Given the description of an element on the screen output the (x, y) to click on. 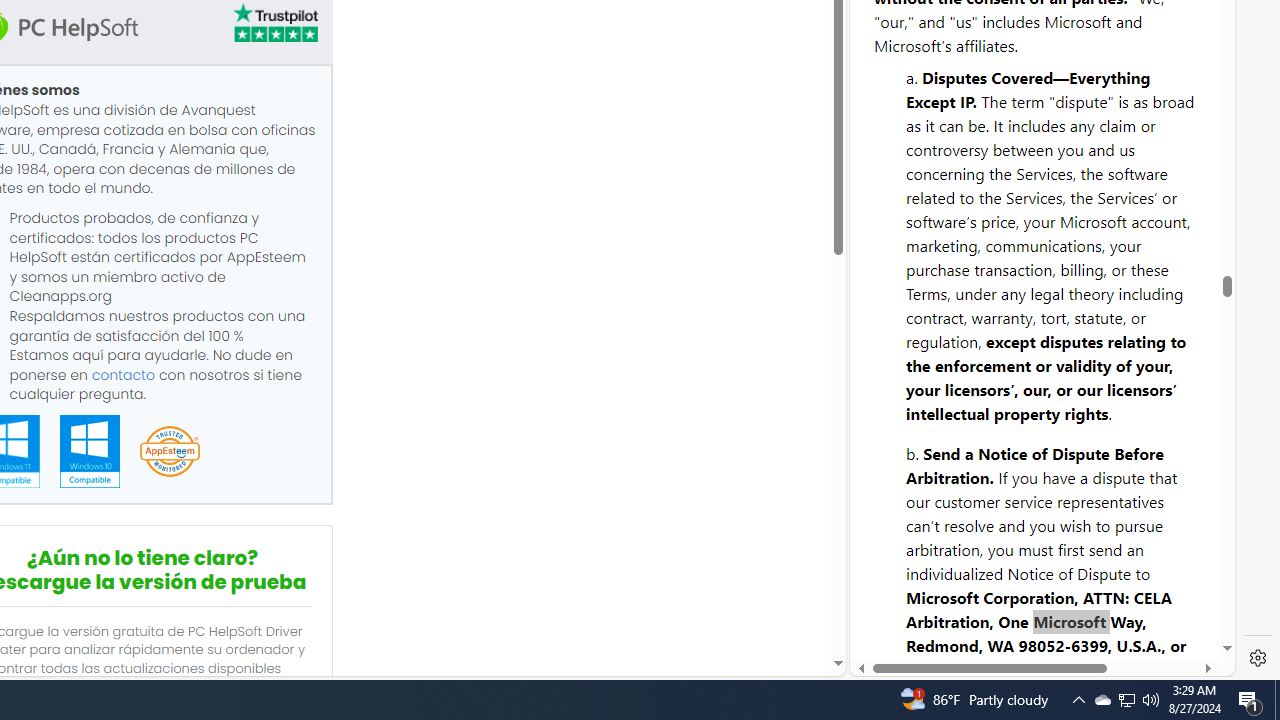
Windows 10 Compatible (89, 451)
